Given the description of an element on the screen output the (x, y) to click on. 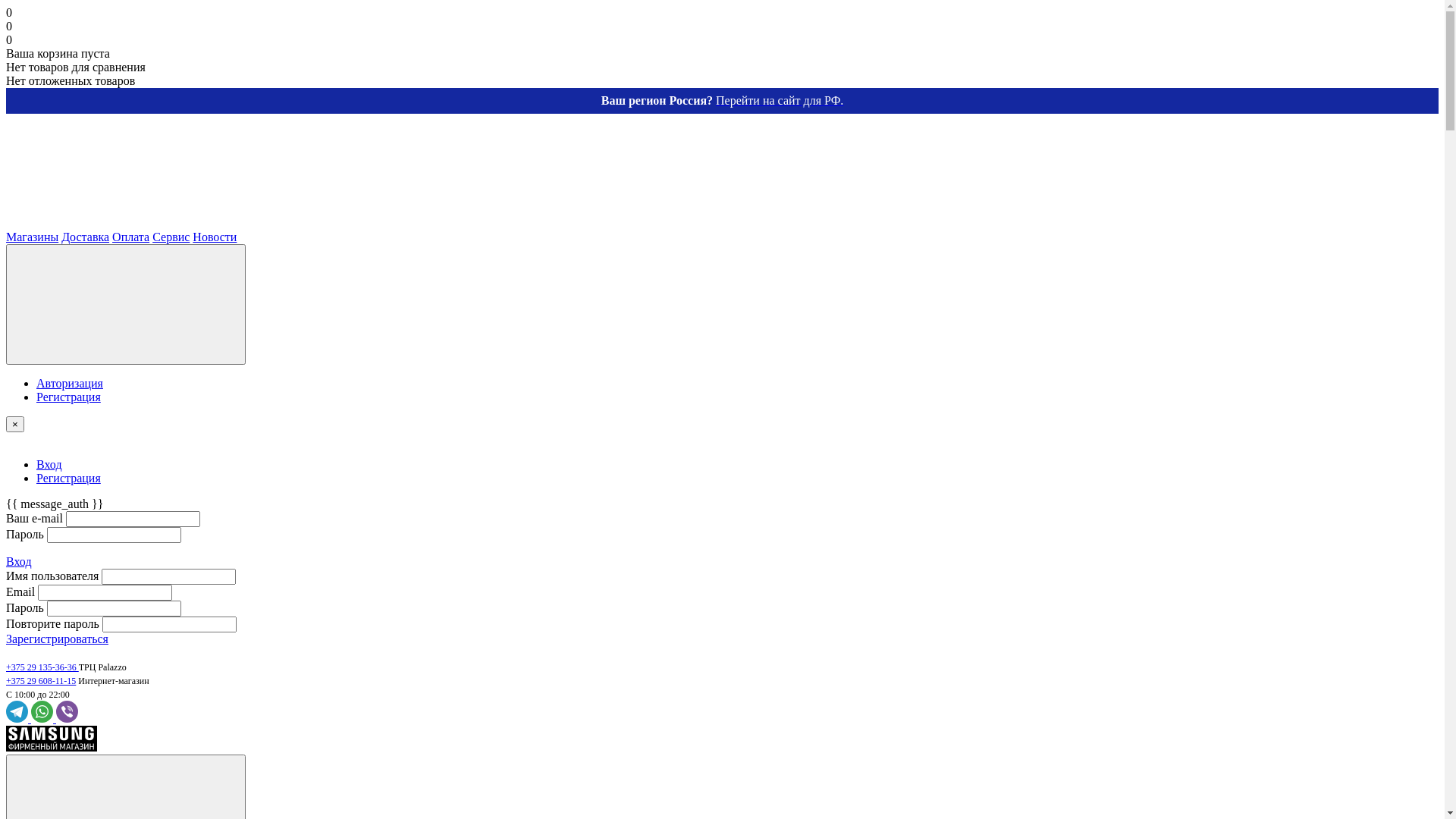
+375 29 135-36-36 Element type: text (42, 667)
  Element type: text (119, 222)
+375 29 608-11-15 Element type: text (40, 680)
